Given the description of an element on the screen output the (x, y) to click on. 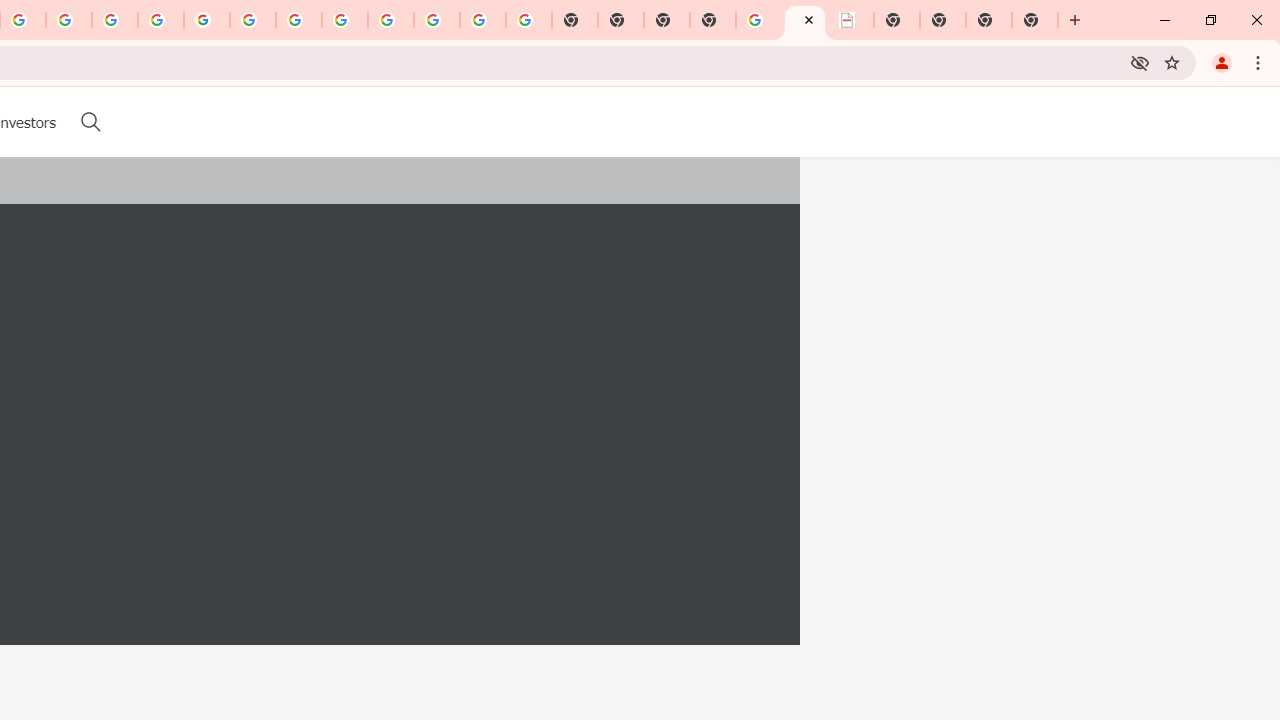
Privacy Help Center - Policies Help (69, 20)
Google Images (528, 20)
Privacy Help Center - Policies Help (115, 20)
New Tab (1035, 20)
YouTube (253, 20)
